Given the description of an element on the screen output the (x, y) to click on. 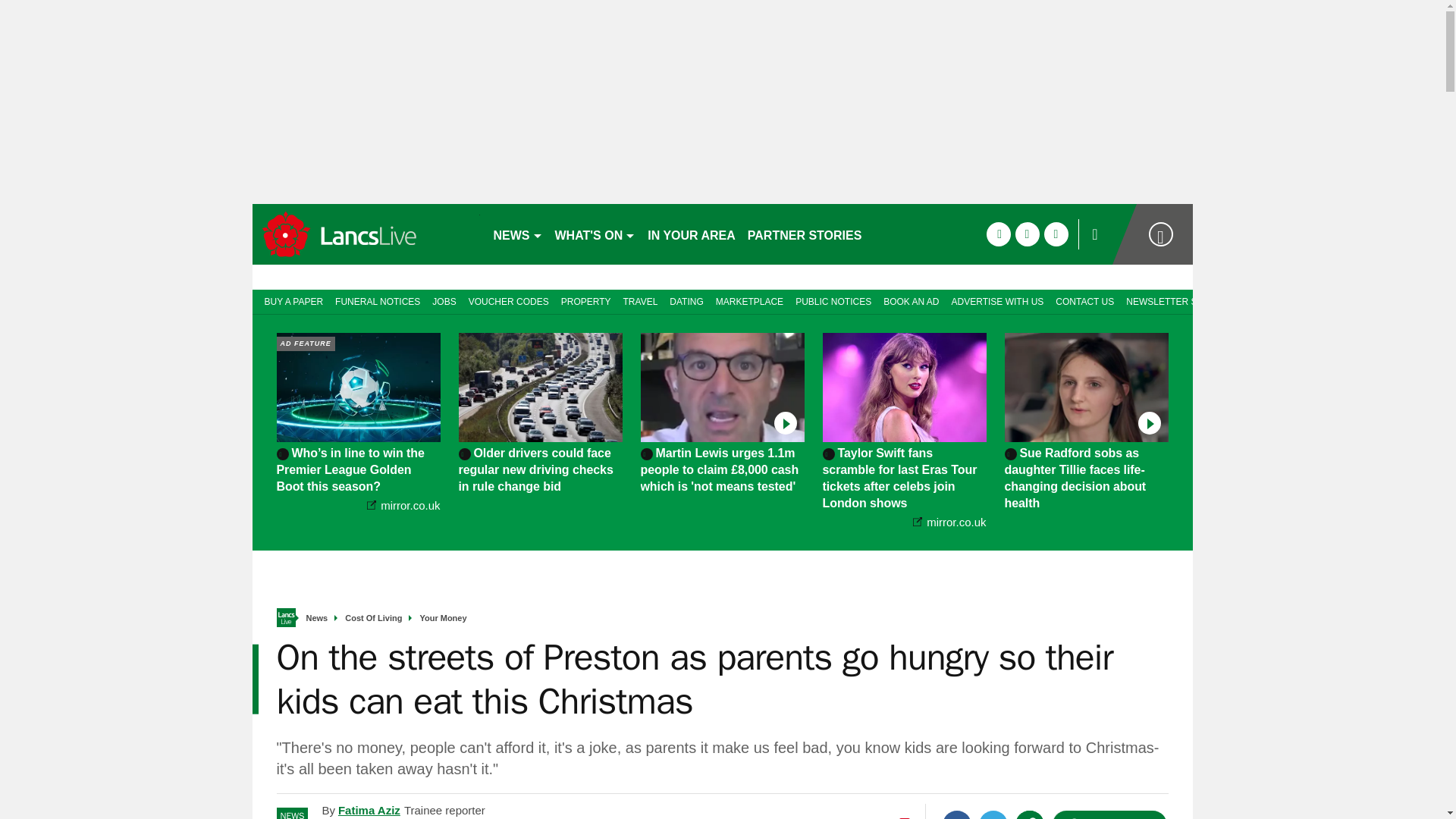
Twitter (992, 814)
Facebook (956, 814)
JOBS (443, 300)
BUY A PAPER (290, 300)
facebook (997, 233)
TRAVEL (640, 300)
PROPERTY (585, 300)
DATING (686, 300)
ADVERTISE WITH US (996, 300)
PUBLIC NOTICES (833, 300)
